Given the description of an element on the screen output the (x, y) to click on. 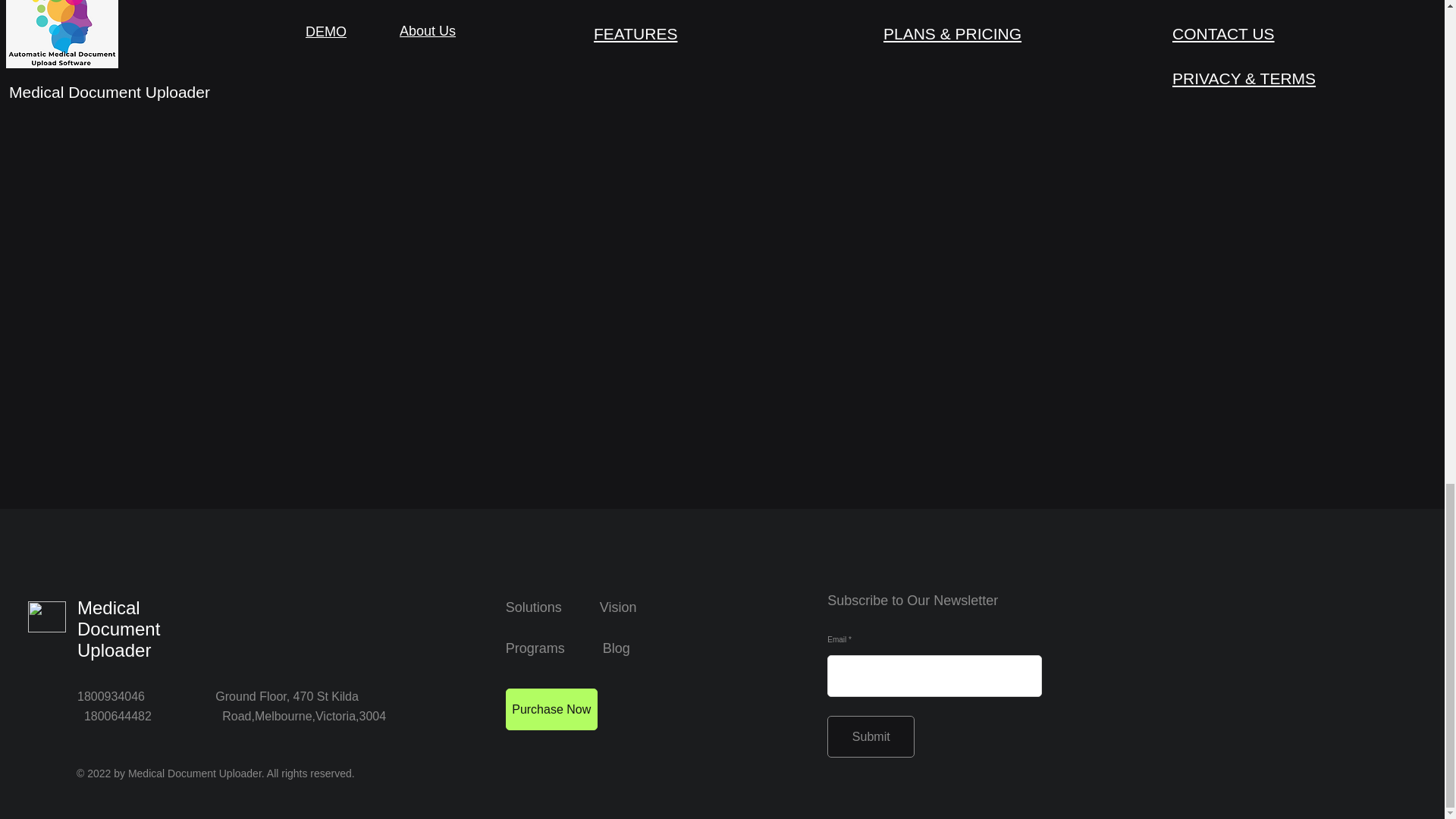
Medical Document Uploader (118, 628)
Purchase Now (550, 709)
Submit (870, 736)
Colorful Brain Human Technology Logo.png (46, 616)
Solutions          Vision Programs          Blog (571, 627)
